Given the description of an element on the screen output the (x, y) to click on. 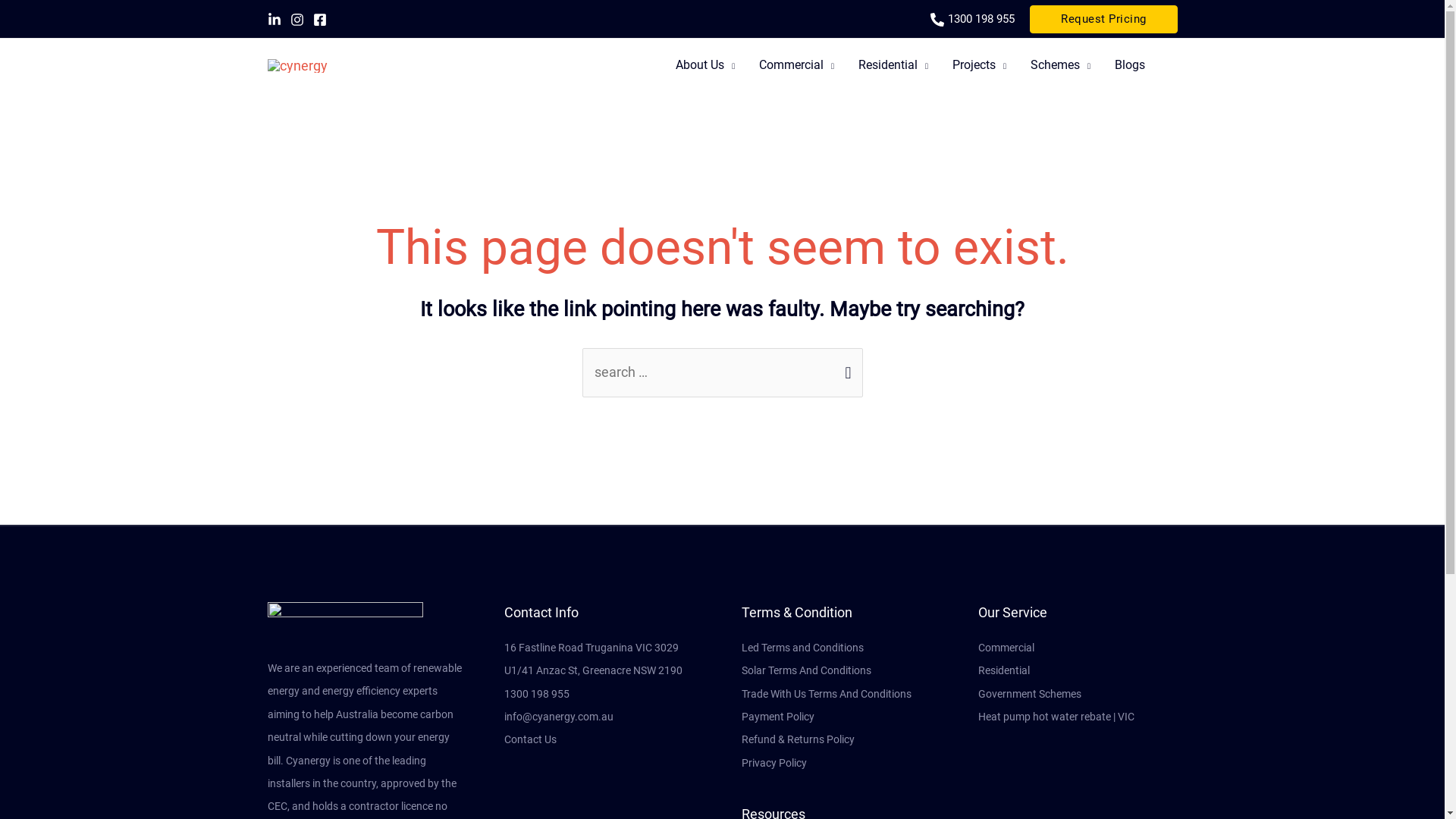
Commercial Element type: text (796, 64)
Commercial Element type: text (1006, 647)
Search Element type: text (1174, 65)
Projects Element type: text (979, 64)
Heat pump hot water rebate | VIC Element type: text (1056, 716)
Request Pricing Element type: text (1103, 18)
Solar Terms And Conditions Element type: text (806, 670)
Blogs Element type: text (1129, 64)
info@cyanergy.com.au Element type: text (558, 716)
Contact Us Element type: text (530, 739)
Led Terms and Conditions Element type: text (802, 647)
16 Fastline Road Truganina VIC 3029 Element type: text (591, 647)
Trade With Us Terms And Conditions Element type: text (826, 693)
Government Schemes Element type: text (1029, 693)
1300 198 955 Element type: text (980, 18)
About Us Element type: text (704, 64)
Residential Element type: text (893, 64)
Refund & Returns Policy Element type: text (797, 739)
1300 198 955 Element type: text (536, 693)
Residential Element type: text (1003, 670)
U1/41 Anzac St, Greenacre NSW 2190 Element type: text (593, 670)
Privacy Policy Element type: text (773, 762)
Schemes Element type: text (1060, 64)
Search Element type: text (845, 363)
Payment Policy Element type: text (777, 716)
